Given the description of an element on the screen output the (x, y) to click on. 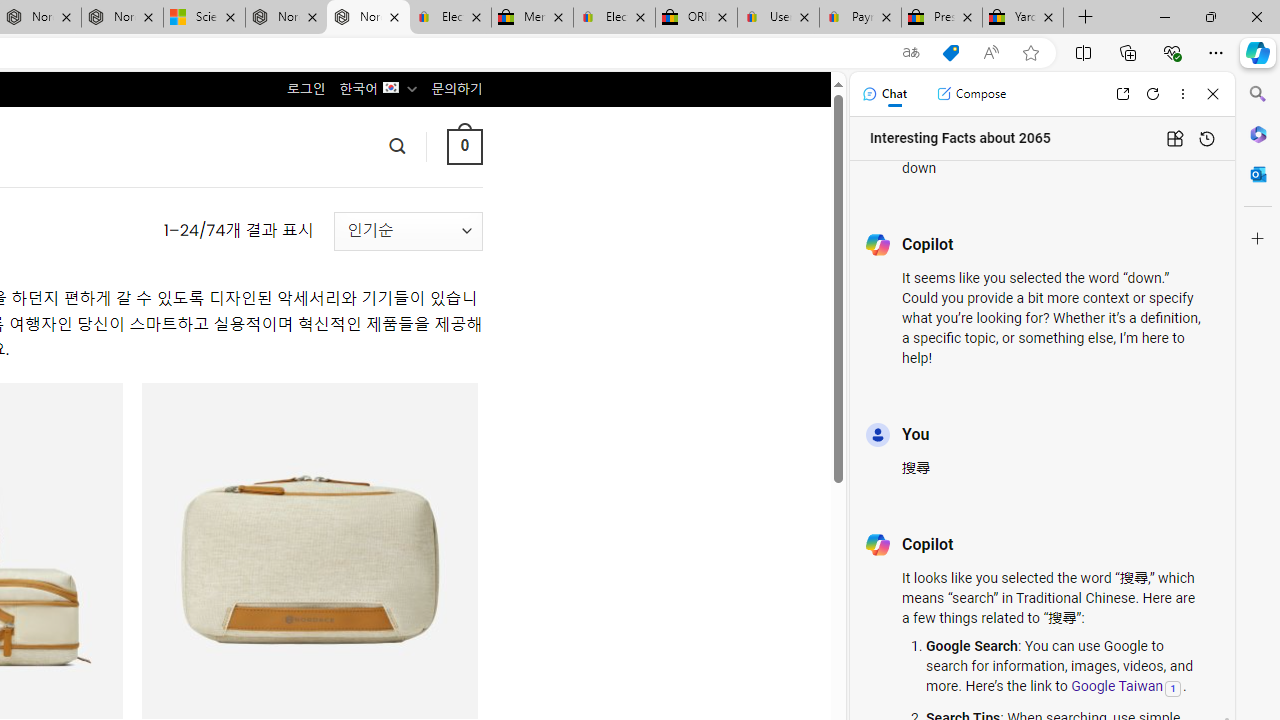
 0  (464, 146)
Yard, Garden & Outdoor Living (1023, 17)
